Given the description of an element on the screen output the (x, y) to click on. 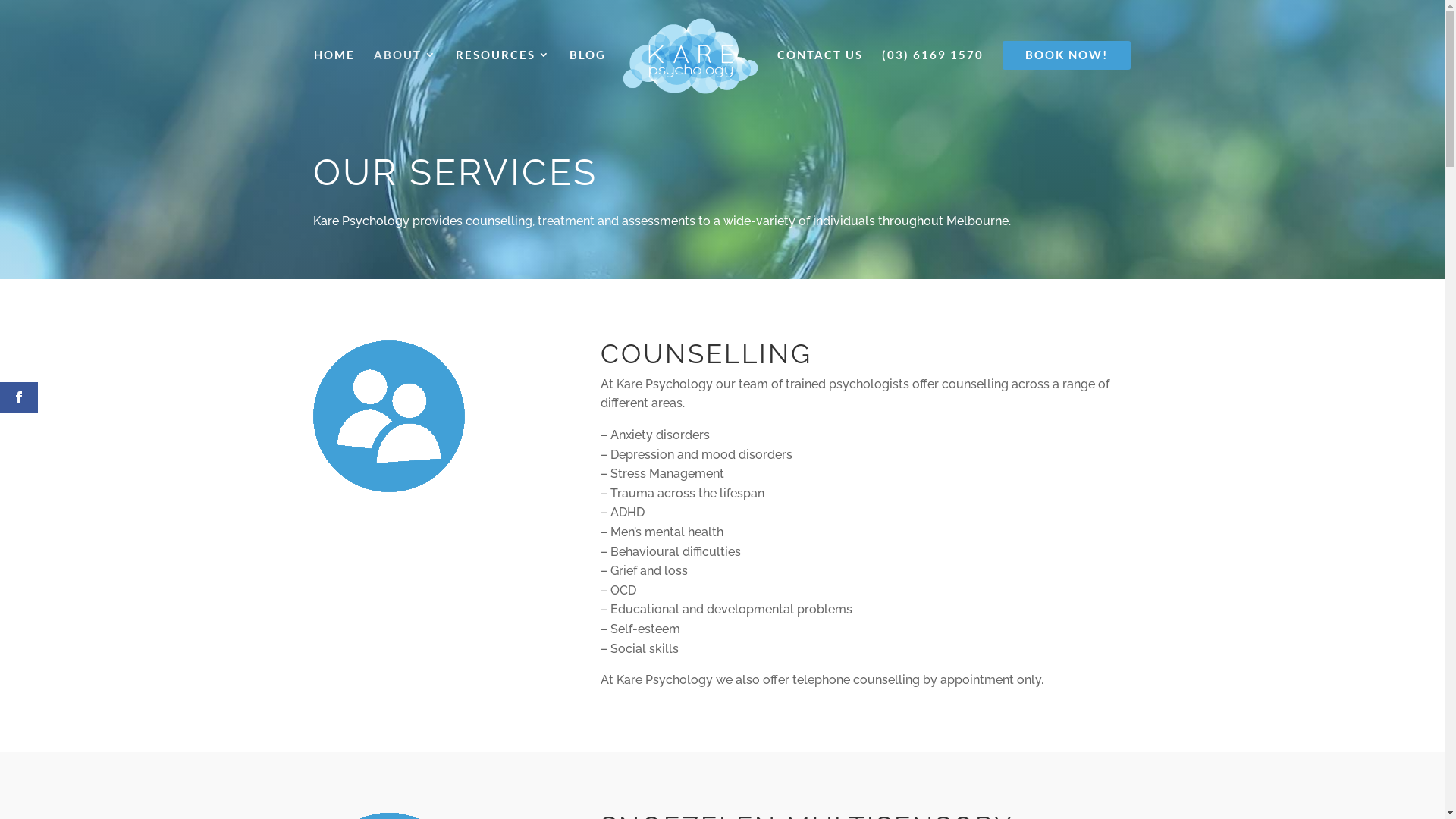
HOME Element type: text (333, 73)
ABOUT Element type: text (404, 73)
CONTACT US Element type: text (819, 73)
RESOURCES Element type: text (502, 73)
BOOK NOW! Element type: text (1066, 54)
BLOG Element type: text (587, 73)
(03) 6169 1570 Element type: text (932, 73)
